Given the description of an element on the screen output the (x, y) to click on. 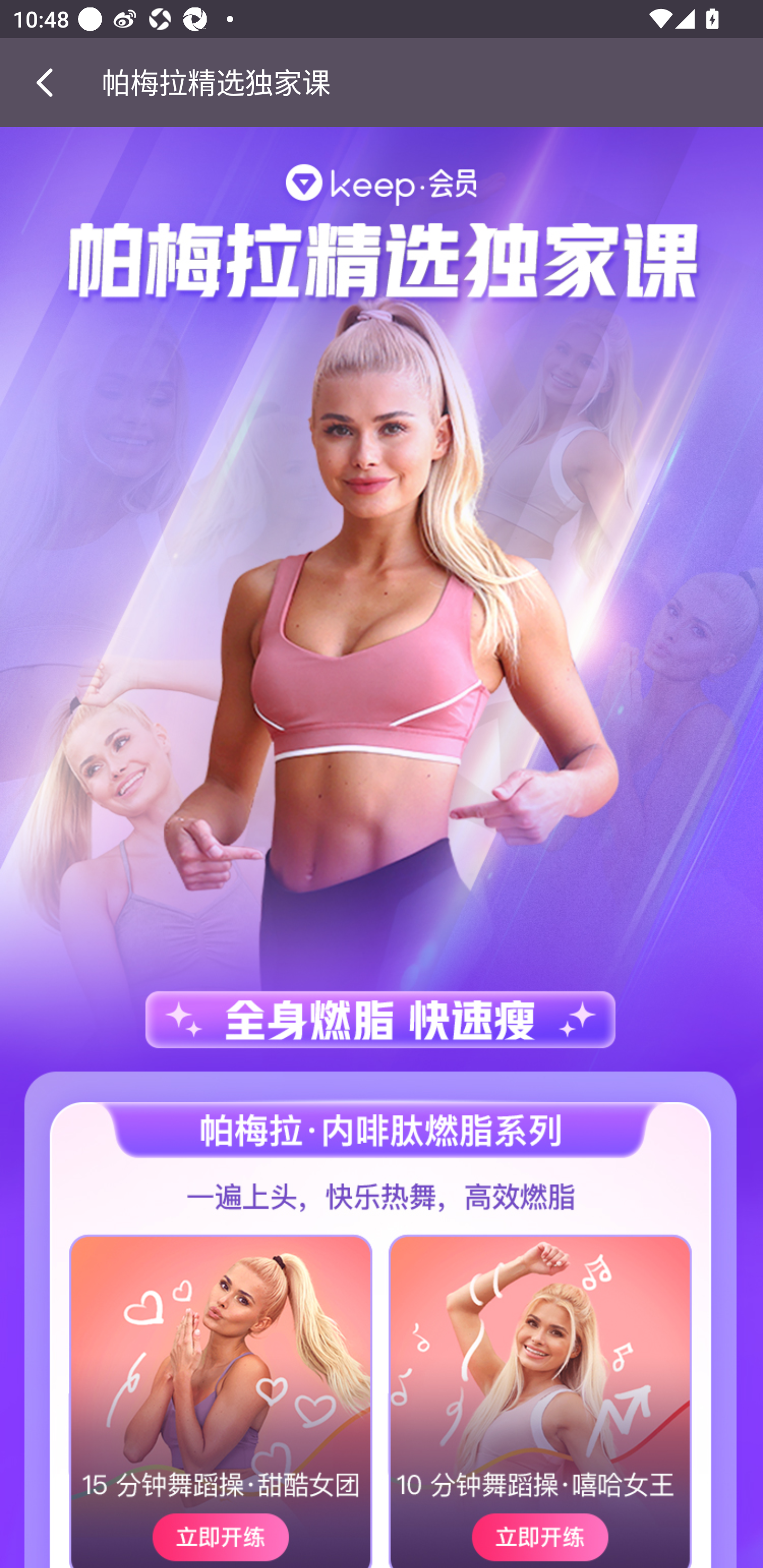
Left Button In Title Bar (50, 82)
1699844792070_375x361 (190, 1393)
1699844794992_375x361 (572, 1393)
